Given the description of an element on the screen output the (x, y) to click on. 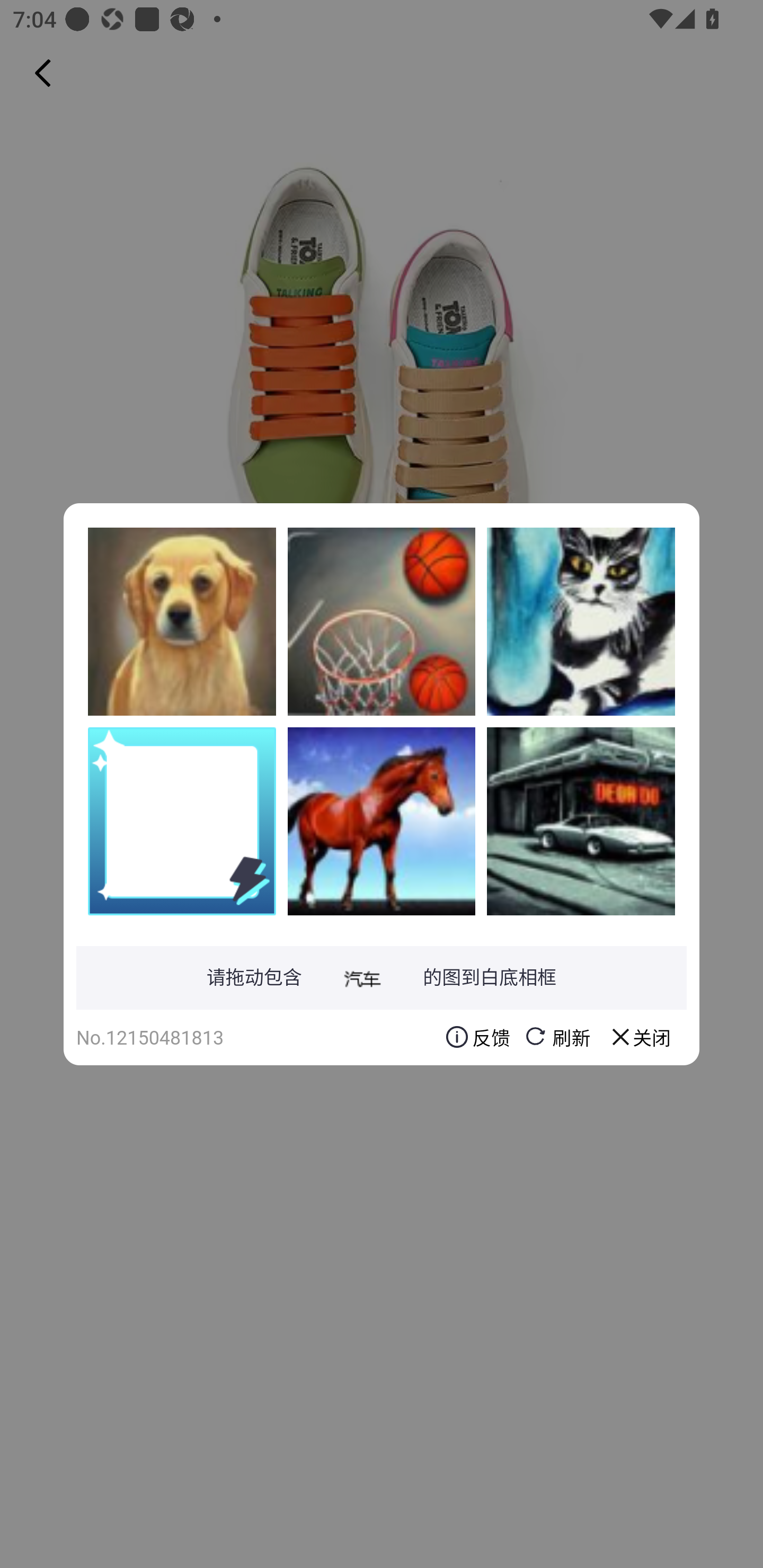
8fuI8D5BI8uyXbMN4ynGEsCjte641BmKsw (181, 621)
m6bWeh48blVXIyjLOr58f8+1fGkZPX3prNWOWWHTePL8Aa (580, 621)
ejaBlC+E11hweRn1wd9p4JE+bgr (381, 820)
